Given the description of an element on the screen output the (x, y) to click on. 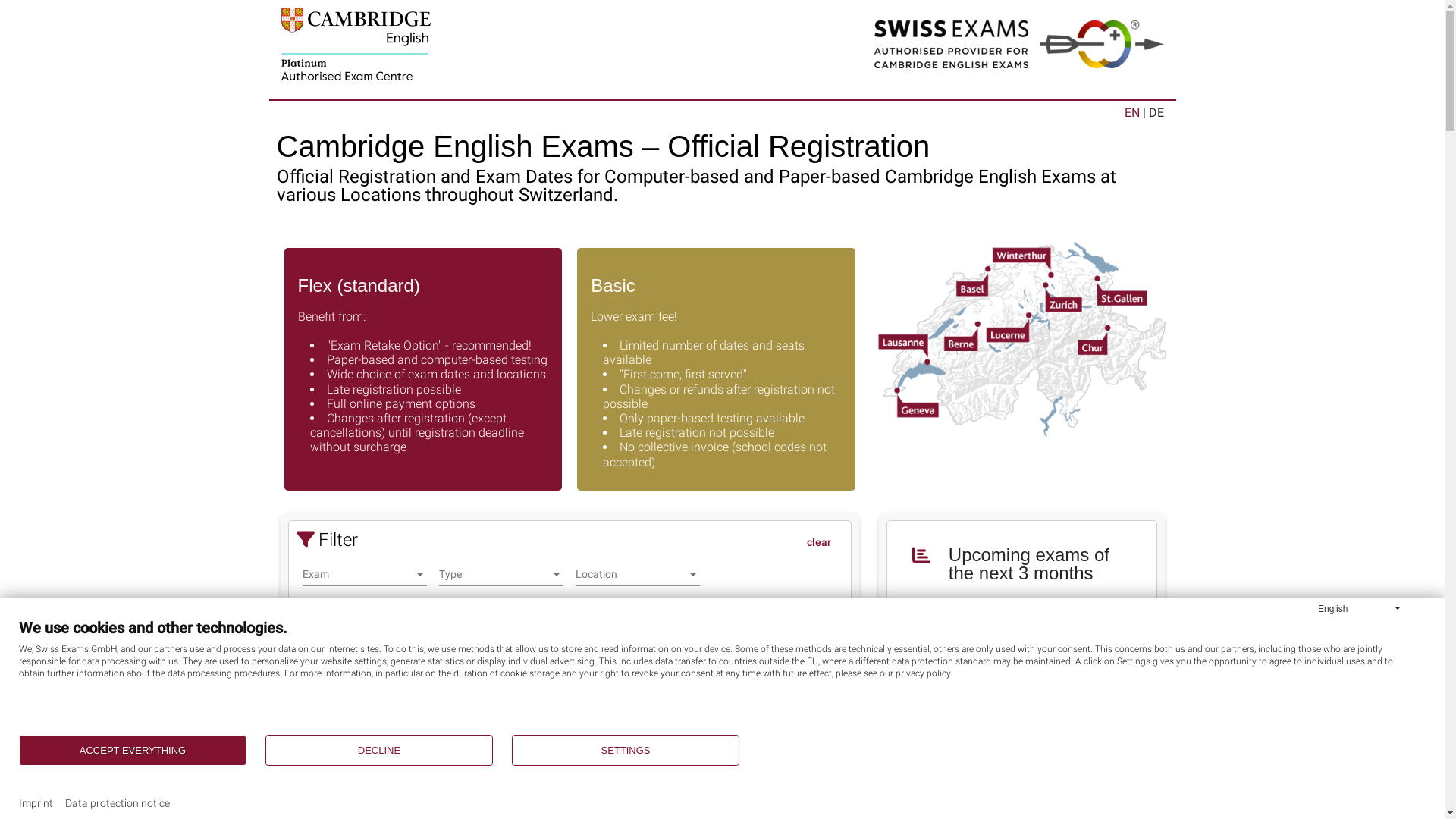
SETTINGS Element type: text (625, 749)
Data protection notice Element type: text (117, 803)
Imprint Element type: text (35, 803)
DE Element type: text (1154, 112)
clear Element type: text (818, 541)
ACCEPT EVERYTHING Element type: text (132, 749)
FLEX Element type: text (756, 781)
DECLINE Element type: text (378, 749)
EN Element type: text (1132, 112)
